Given the description of an element on the screen output the (x, y) to click on. 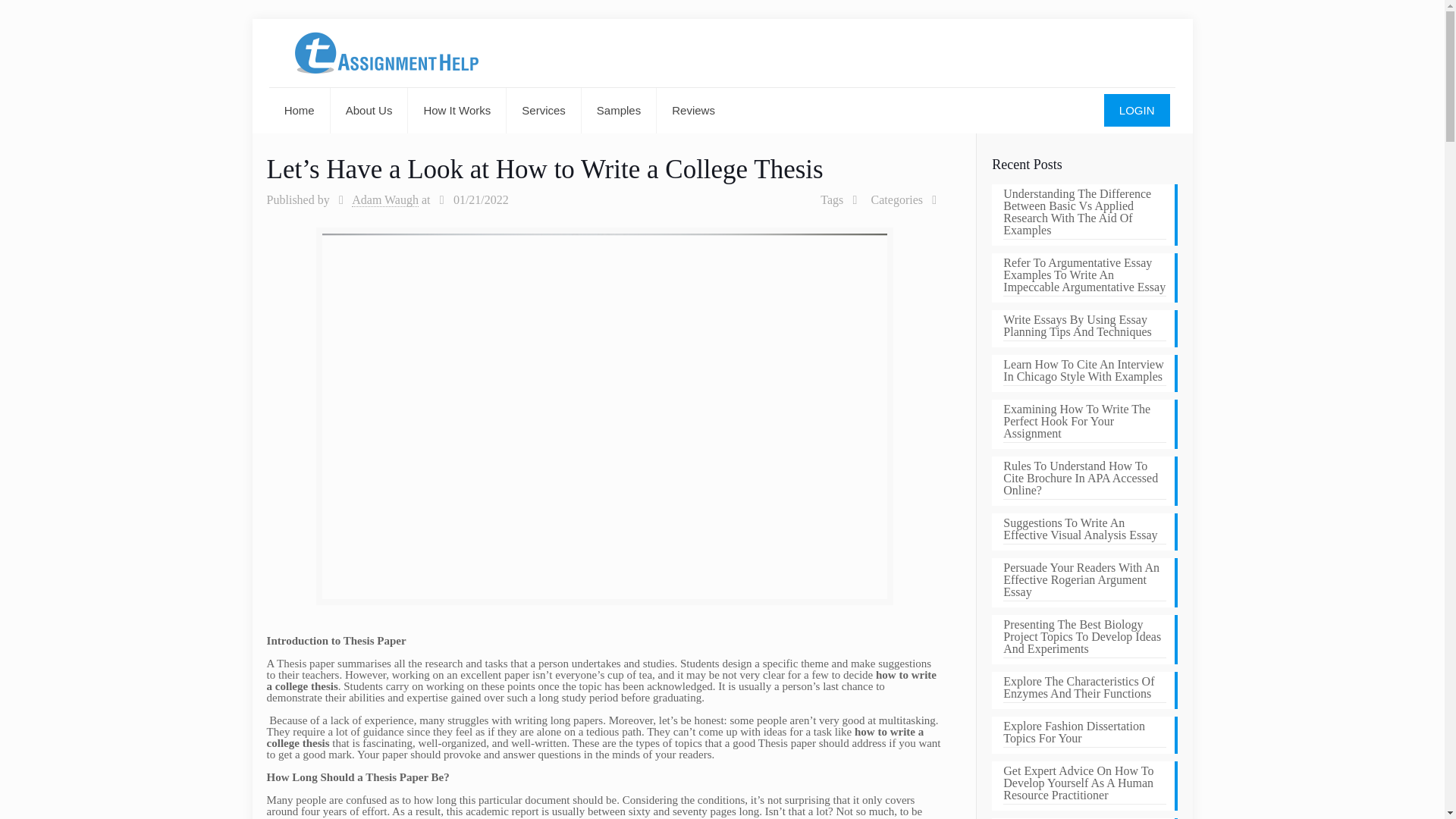
Samples (618, 110)
Write Essays By Using Essay Planning Tips And Techniques (1084, 327)
Reviews (693, 110)
About Us (369, 110)
How It Works (456, 110)
Home (299, 110)
LOGIN (1136, 110)
Adam Waugh (385, 200)
